Given the description of an element on the screen output the (x, y) to click on. 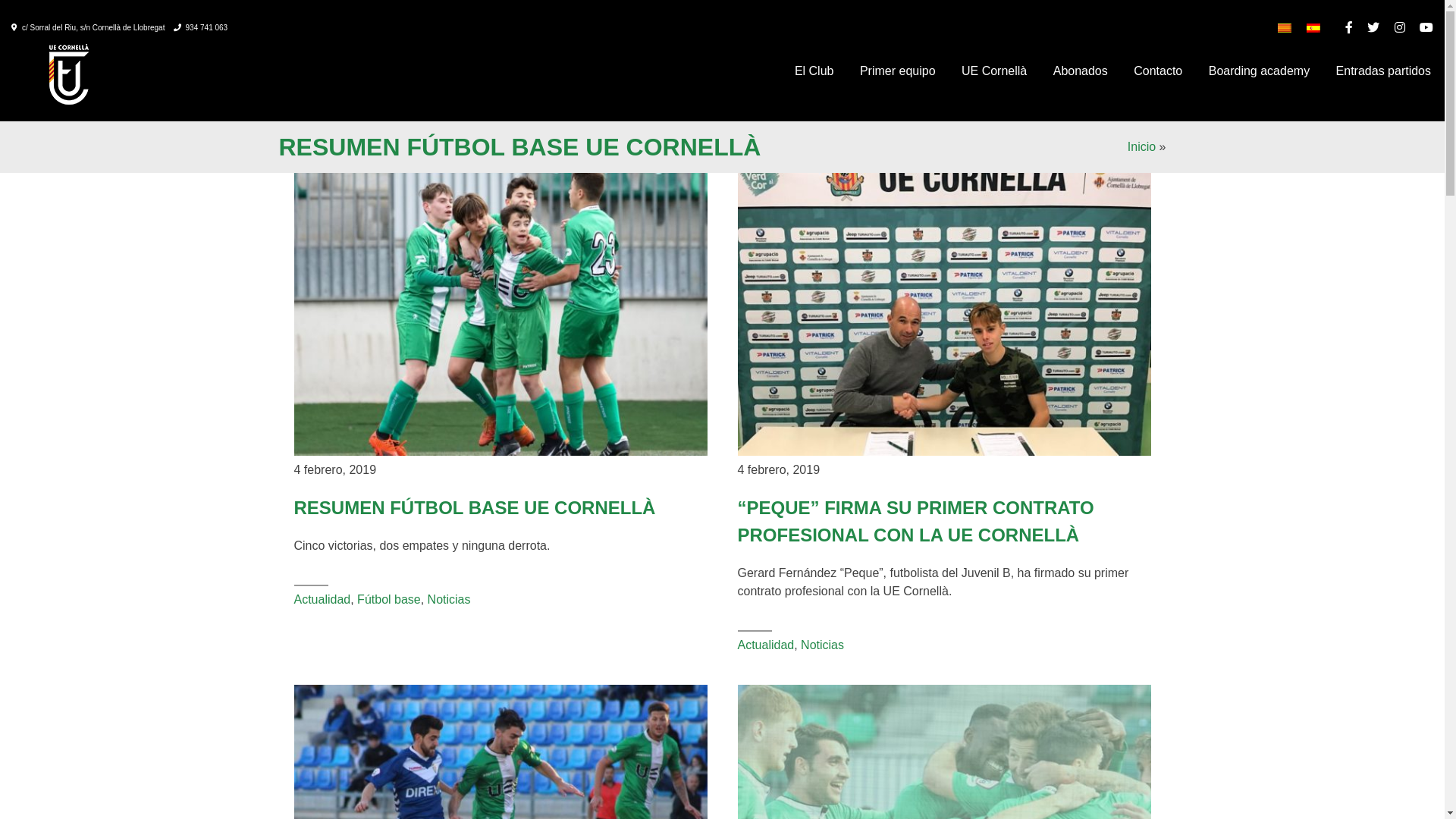
Abonados Element type: text (1080, 71)
Entradas partidos Element type: text (1383, 71)
El Club Element type: text (814, 71)
Inicio Element type: text (1141, 146)
Noticias Element type: text (822, 644)
Primer equipo Element type: text (897, 71)
Contacto Element type: text (1157, 71)
Boarding academy Element type: text (1258, 71)
Noticias Element type: text (448, 599)
Actualidad Element type: text (322, 599)
Actualidad Element type: text (765, 644)
